Given the description of an element on the screen output the (x, y) to click on. 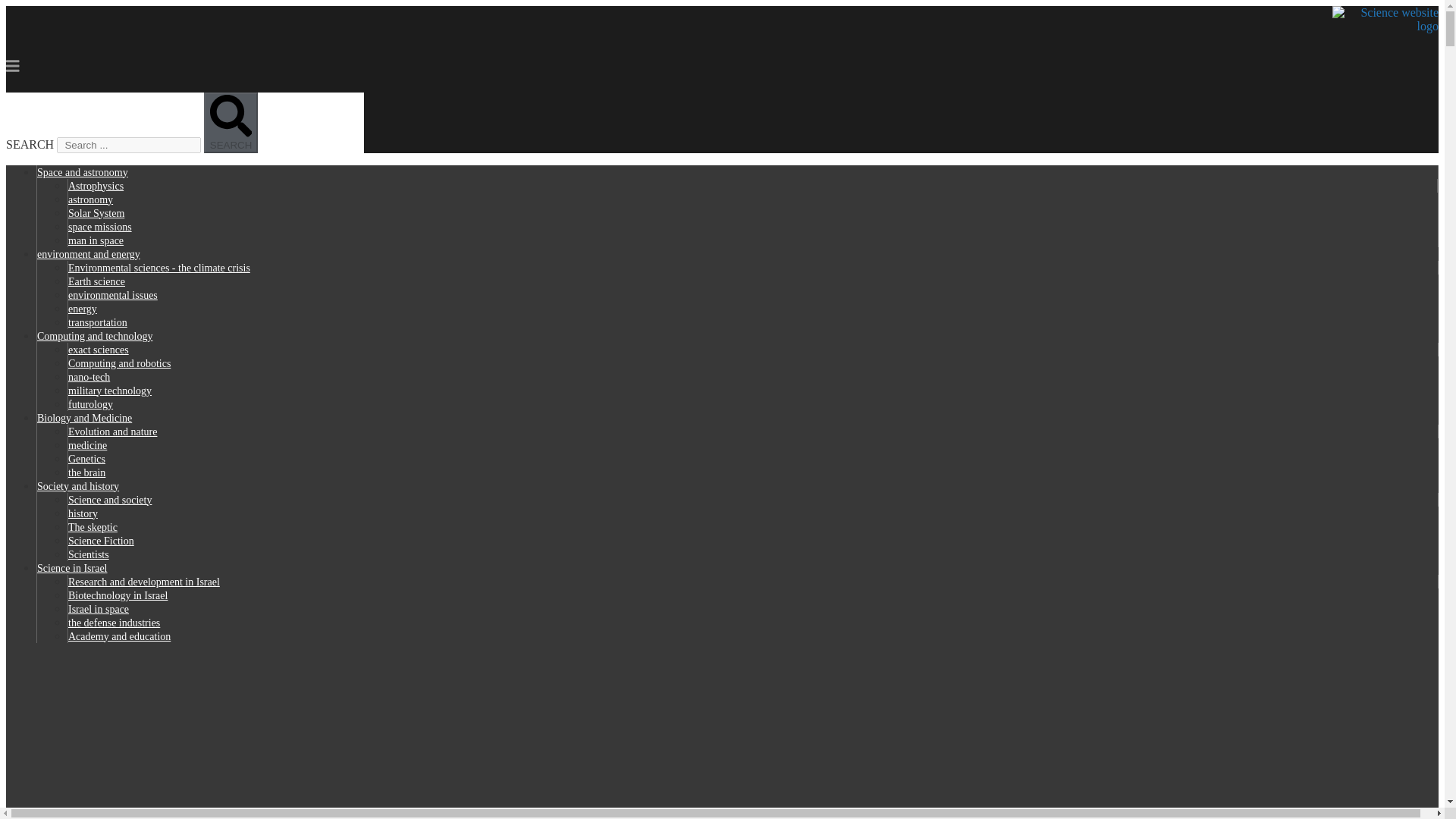
the defense industries (114, 622)
environmental issues (112, 295)
Science in Israel (72, 568)
Space and astronomy (82, 172)
exact sciences (98, 349)
astronomy (90, 199)
nano-tech (89, 377)
transportation (98, 322)
Evolution and nature (112, 431)
environment and energy (88, 254)
the brain (86, 472)
Earth science (96, 281)
Society and history (78, 486)
Solar System (95, 213)
military technology (109, 390)
